Given the description of an element on the screen output the (x, y) to click on. 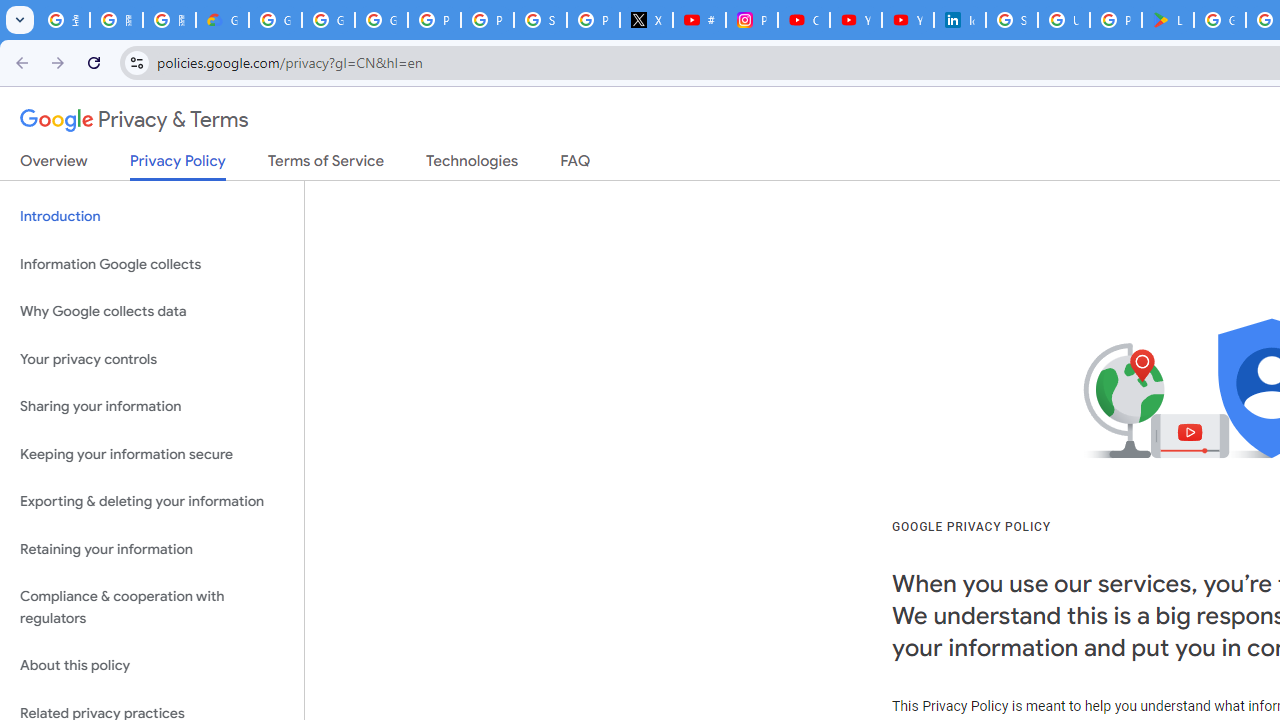
Sharing your information (152, 407)
Privacy Help Center - Policies Help (487, 20)
YouTube Culture & Trends - YouTube Top 10, 2021 (907, 20)
Exporting & deleting your information (152, 502)
Your privacy controls (152, 358)
Retaining your information (152, 548)
